Given the description of an element on the screen output the (x, y) to click on. 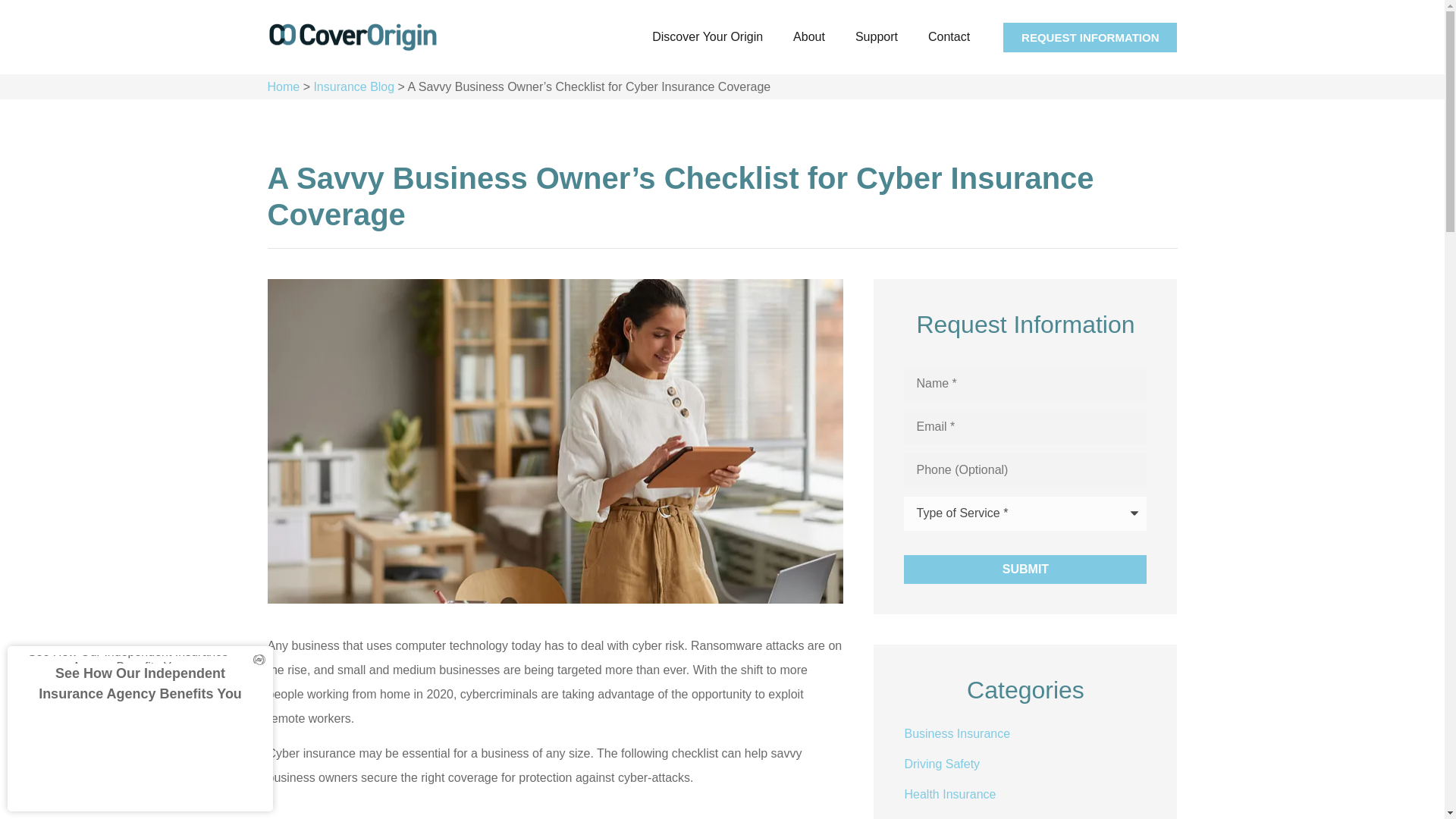
Discover Your Origin (707, 36)
Contact (948, 36)
logo2 (352, 37)
Support (876, 36)
About (808, 36)
Submit (1025, 569)
